Given the description of an element on the screen output the (x, y) to click on. 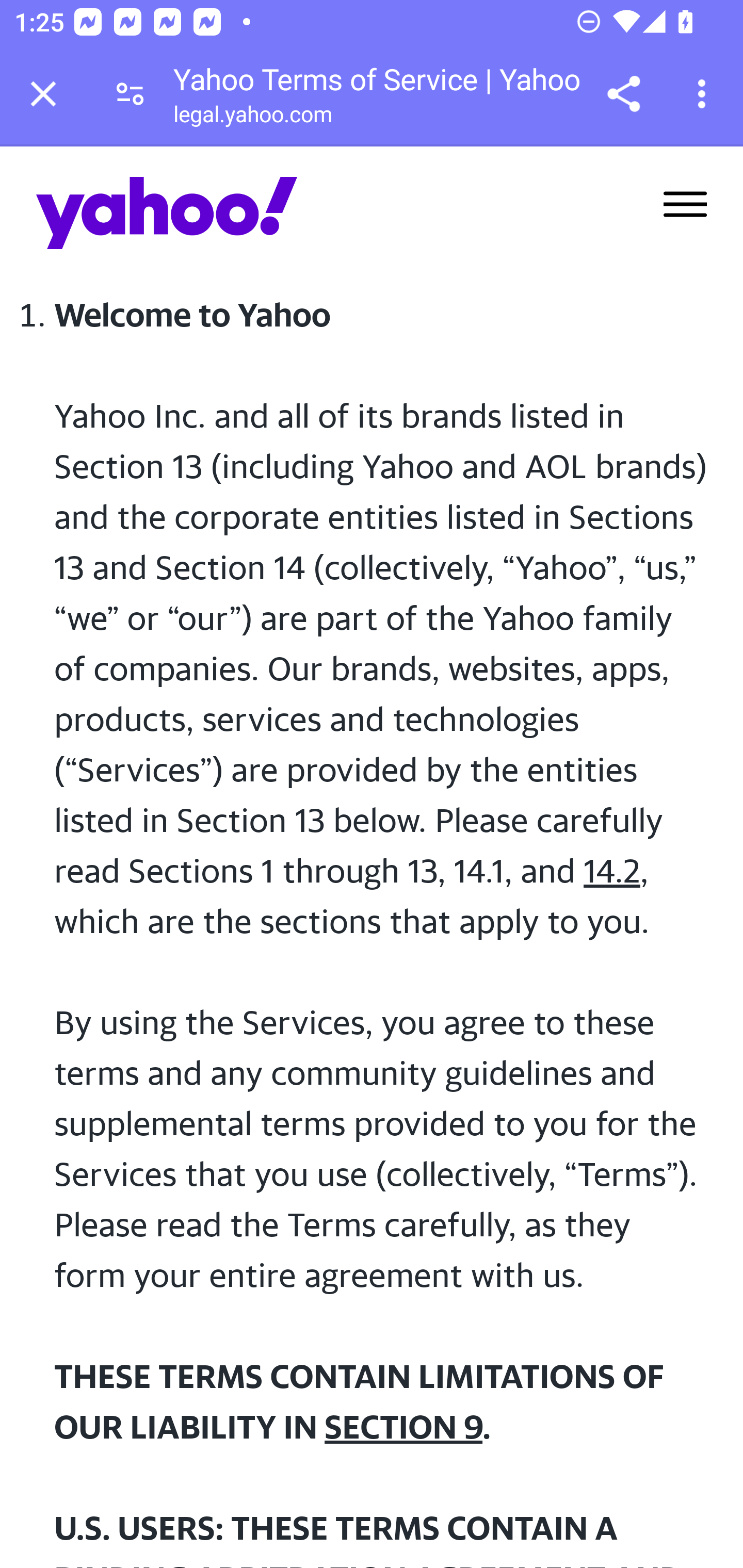
Close tab (43, 93)
Share (623, 93)
Customize and control Google Chrome (705, 93)
Connection is secure (129, 93)
legal.yahoo.com (252, 117)
14.2 (611, 870)
SECTION 9 (403, 1426)
